Given the description of an element on the screen output the (x, y) to click on. 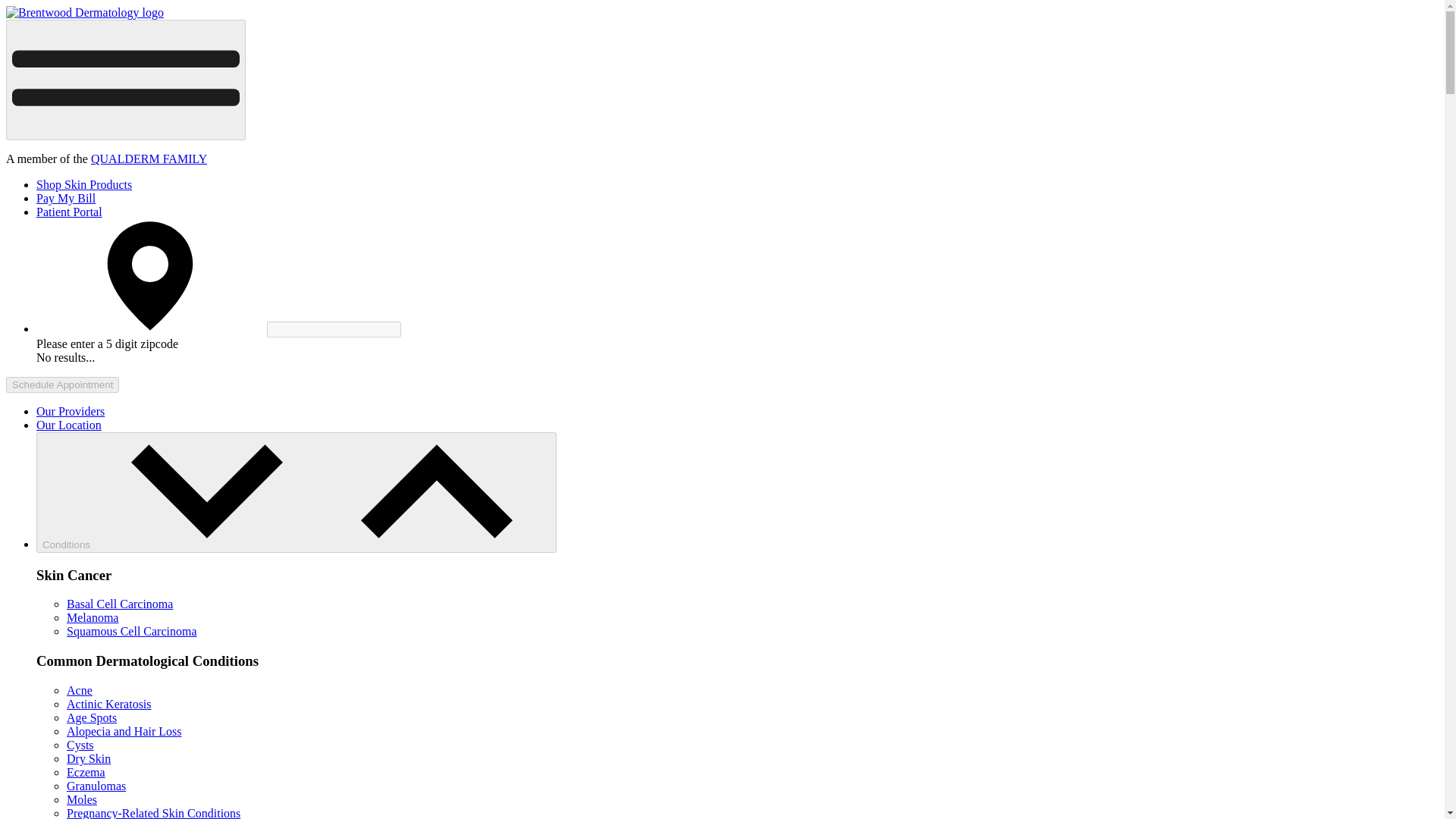
Cysts (80, 744)
Moles (81, 799)
Conditions (296, 492)
Eczema (85, 771)
Squamous Cell Carcinoma (131, 631)
Acne (79, 689)
Pay My Bill (66, 197)
Our Providers (70, 410)
Granulomas (95, 785)
Basal Cell Carcinoma (119, 603)
Schedule Appointment (62, 384)
Our Location (68, 424)
Patient Portal (68, 211)
QUALDERM FAMILY (148, 158)
Shop Skin Products (84, 184)
